Given the description of an element on the screen output the (x, y) to click on. 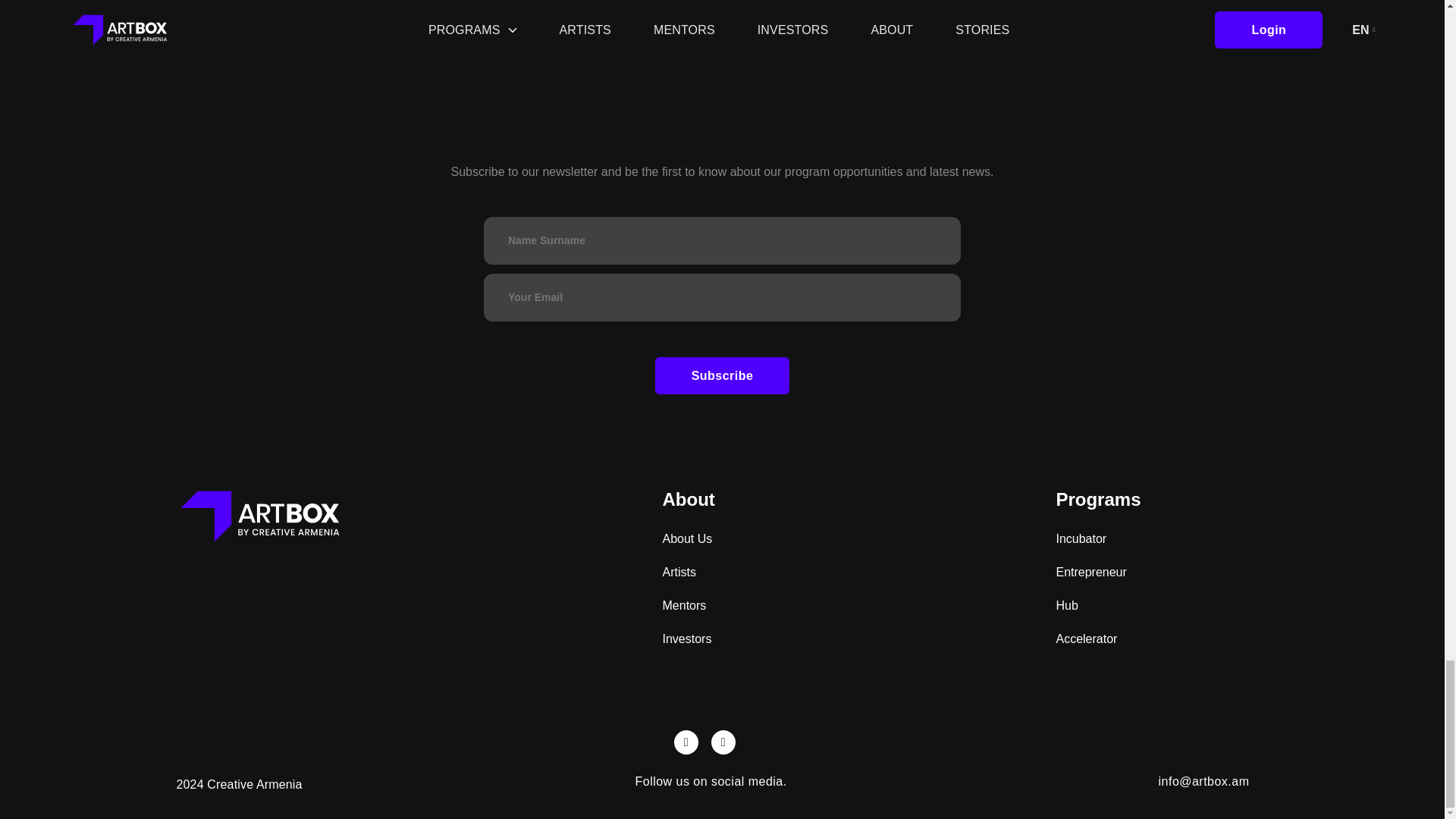
facebook (723, 742)
instagram (686, 742)
